Given the description of an element on the screen output the (x, y) to click on. 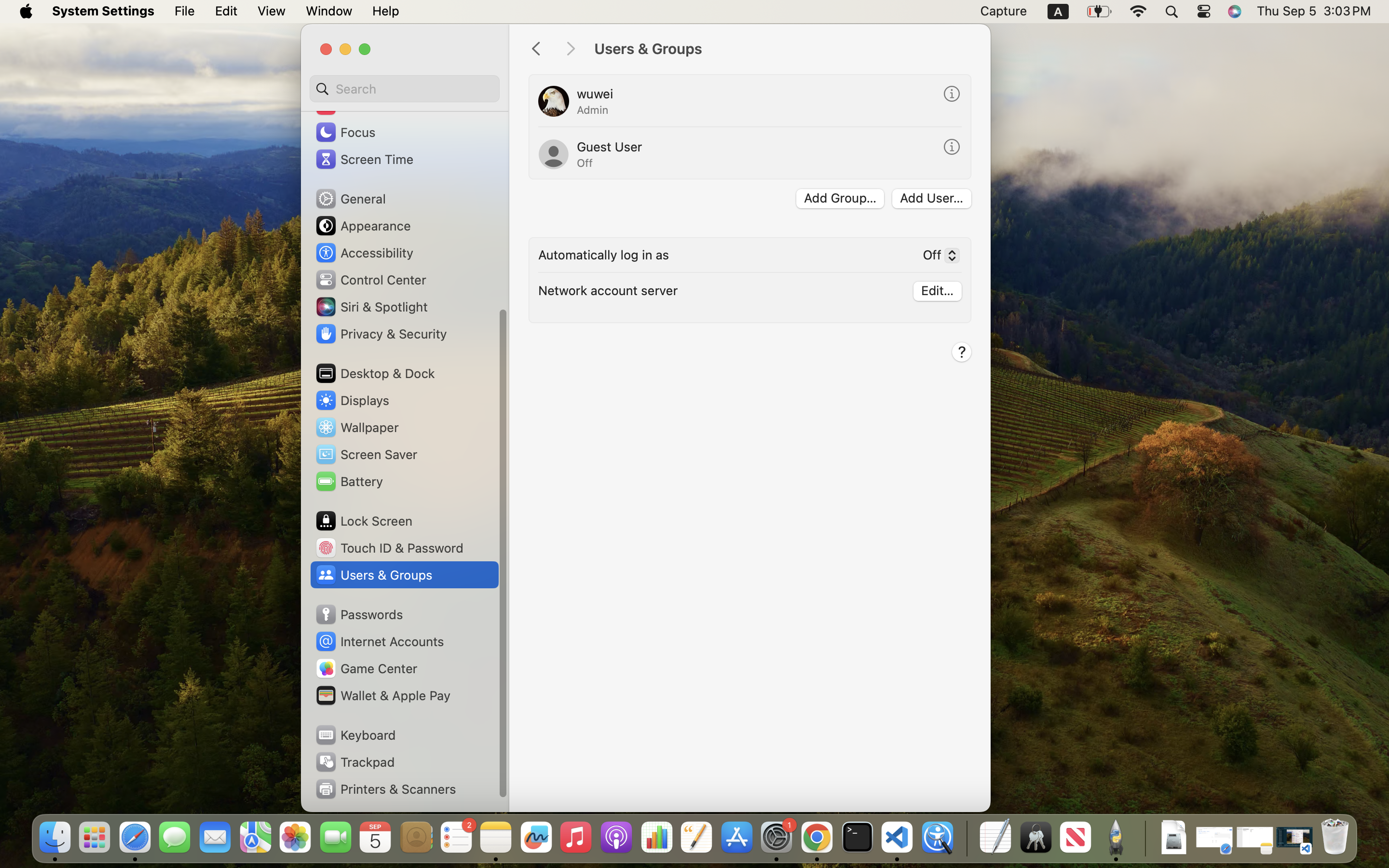
wuwei Element type: AXStaticText (594, 93)
Guest User Element type: AXStaticText (609, 146)
Keyboard Element type: AXStaticText (354, 734)
Accessibility Element type: AXStaticText (363, 252)
Users & Groups Element type: AXStaticText (782, 49)
